Given the description of an element on the screen output the (x, y) to click on. 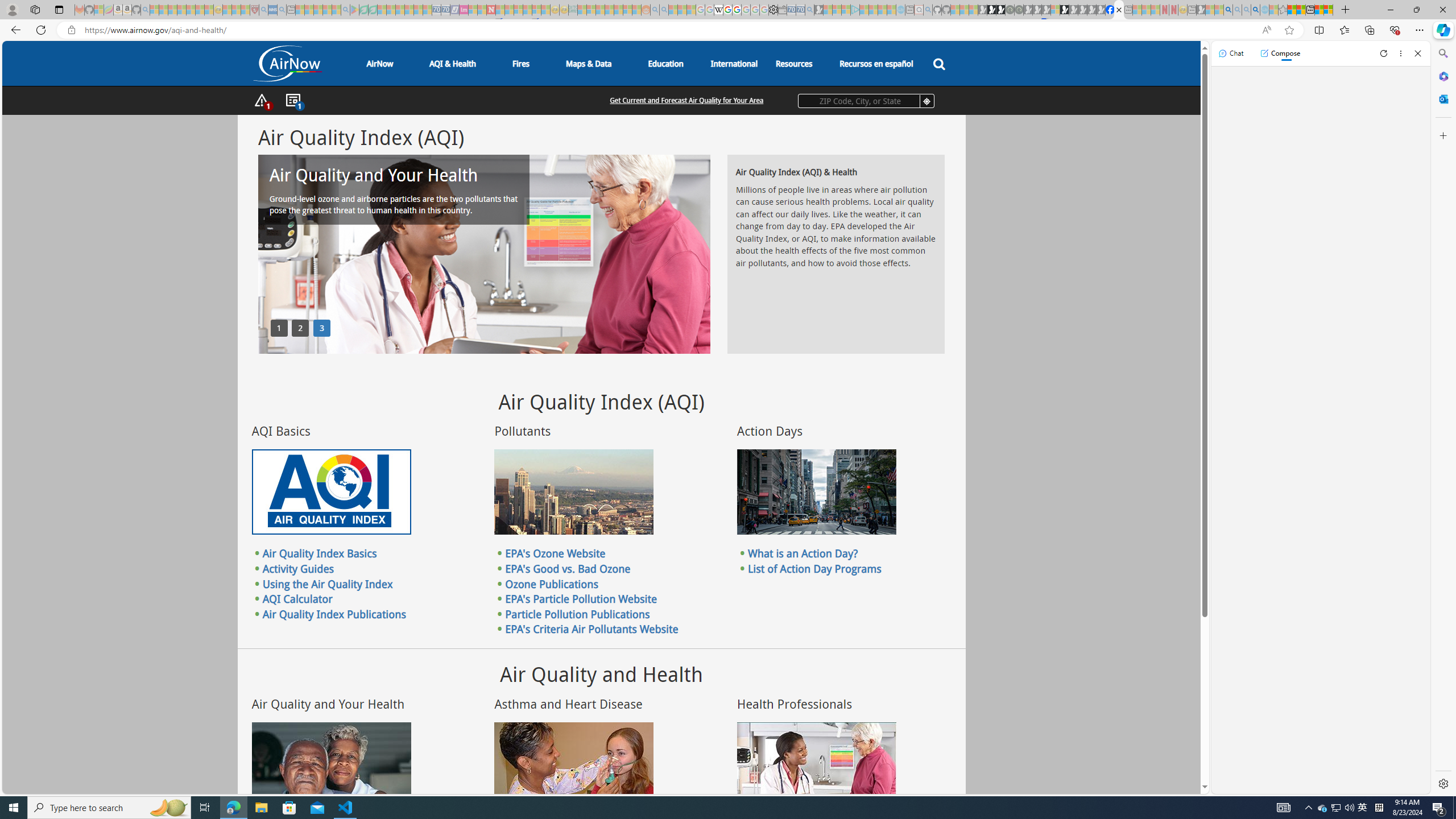
Class: main-link dropbtn-nav-link (876, 62)
City traffic (816, 491)
Compose (1279, 52)
Sign in to your account - Sleeping (1054, 9)
Get Current and Forecast Air Quality for Your Area (687, 99)
AQI logo (330, 491)
